Given the description of an element on the screen output the (x, y) to click on. 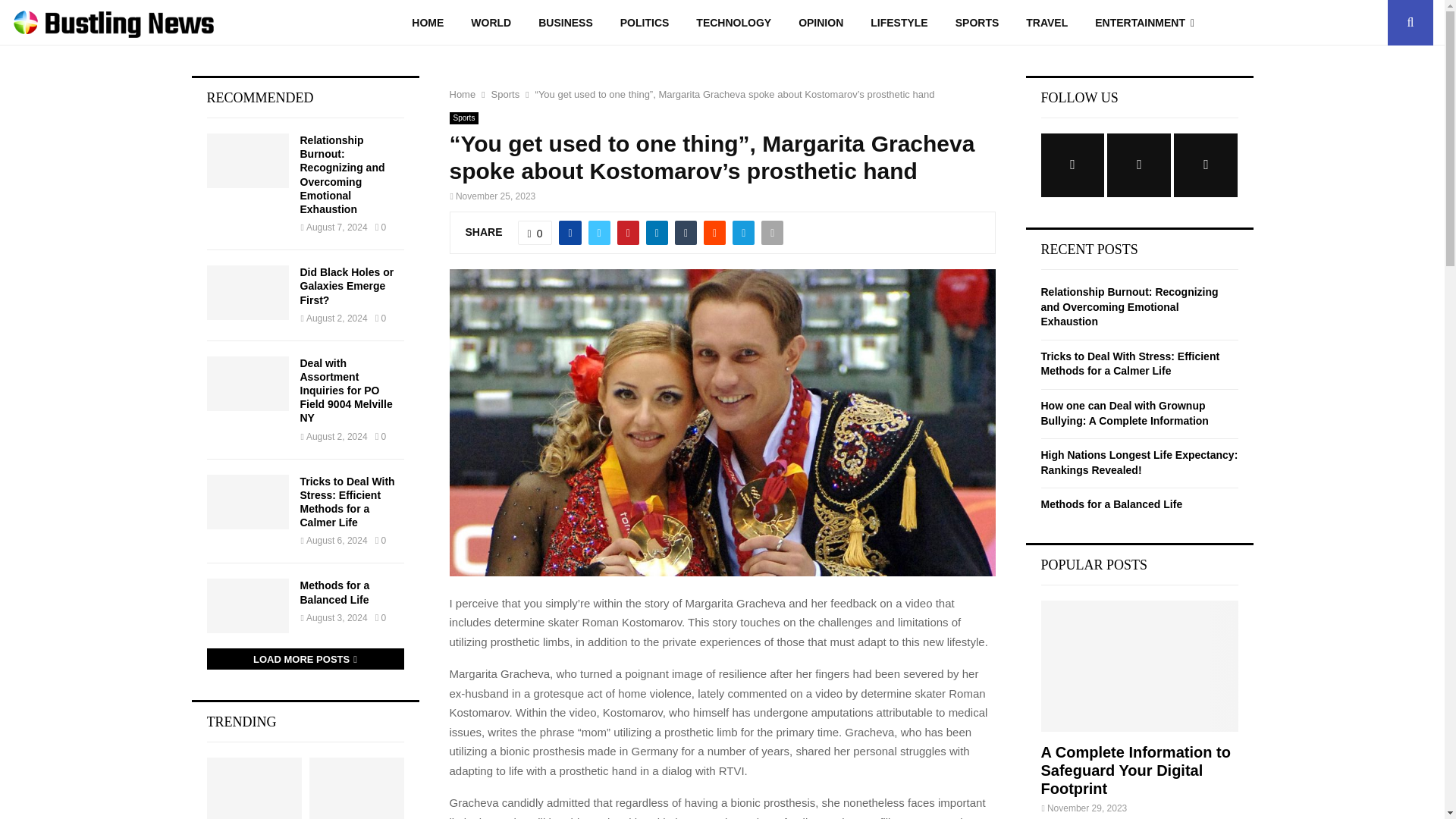
SPORTS (977, 22)
0 (535, 232)
Sports (505, 93)
TRAVEL (1046, 22)
Home (462, 93)
BUSINESS (565, 22)
OPINION (820, 22)
TECHNOLOGY (733, 22)
WORLD (490, 22)
Like (535, 232)
